Given the description of an element on the screen output the (x, y) to click on. 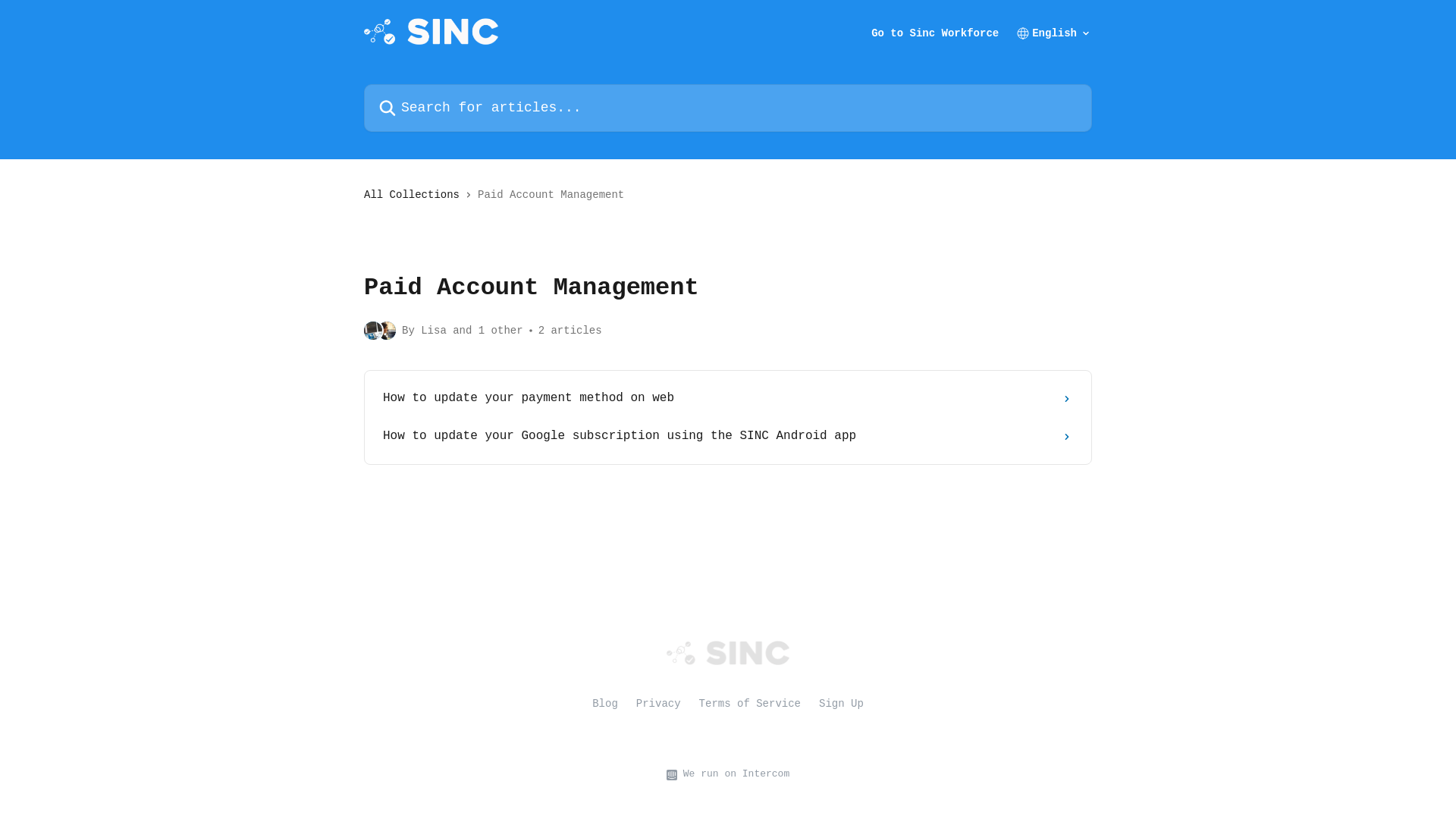
Privacy Element type: text (658, 703)
We run on Intercom Element type: text (733, 774)
All Collections Element type: text (414, 194)
Blog Element type: text (605, 703)
Terms of Service Element type: text (749, 703)
Go to Sinc Workforce Element type: text (934, 32)
How to update your payment method on web Element type: text (727, 398)
Sign Up Element type: text (841, 703)
